Given the description of an element on the screen output the (x, y) to click on. 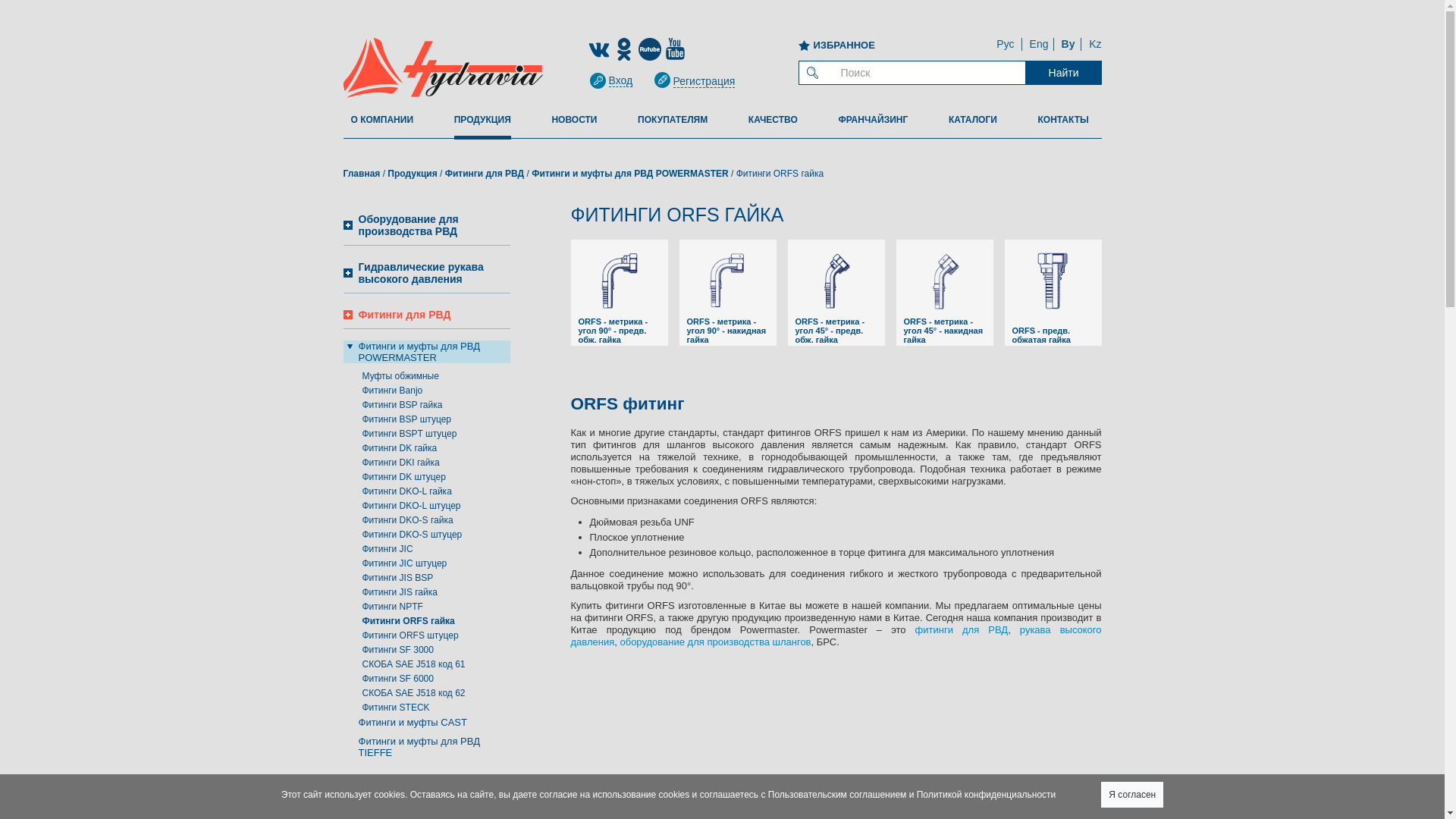
Eng Element type: text (1038, 43)
Kz Element type: text (1094, 43)
By Element type: text (1068, 43)
